Given the description of an element on the screen output the (x, y) to click on. 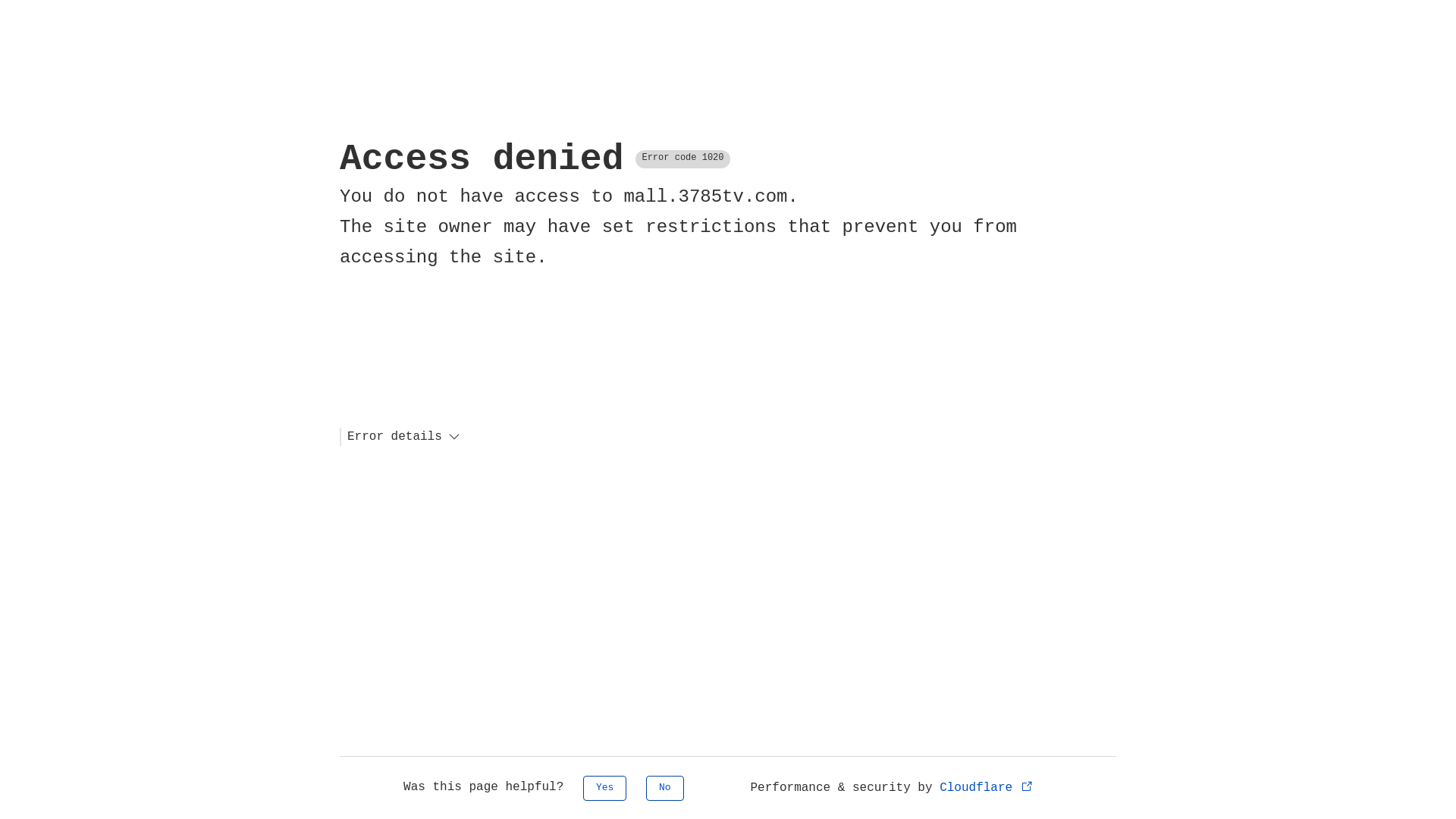
Opens in new tab Element type: hover (1027, 785)
Yes Element type: text (604, 787)
No Element type: text (665, 787)
Cloudflare Element type: text (986, 787)
